Given the description of an element on the screen output the (x, y) to click on. 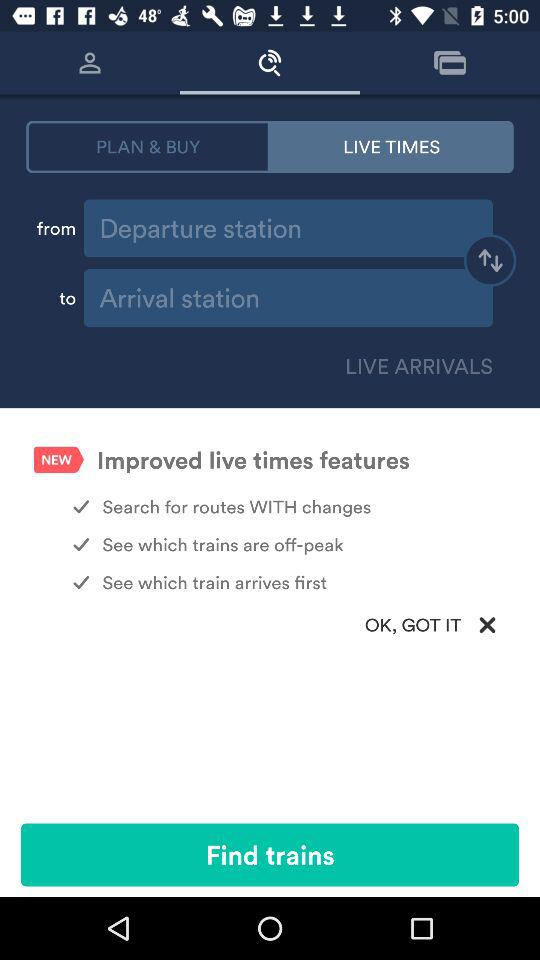
select the item next to live times item (148, 146)
